Given the description of an element on the screen output the (x, y) to click on. 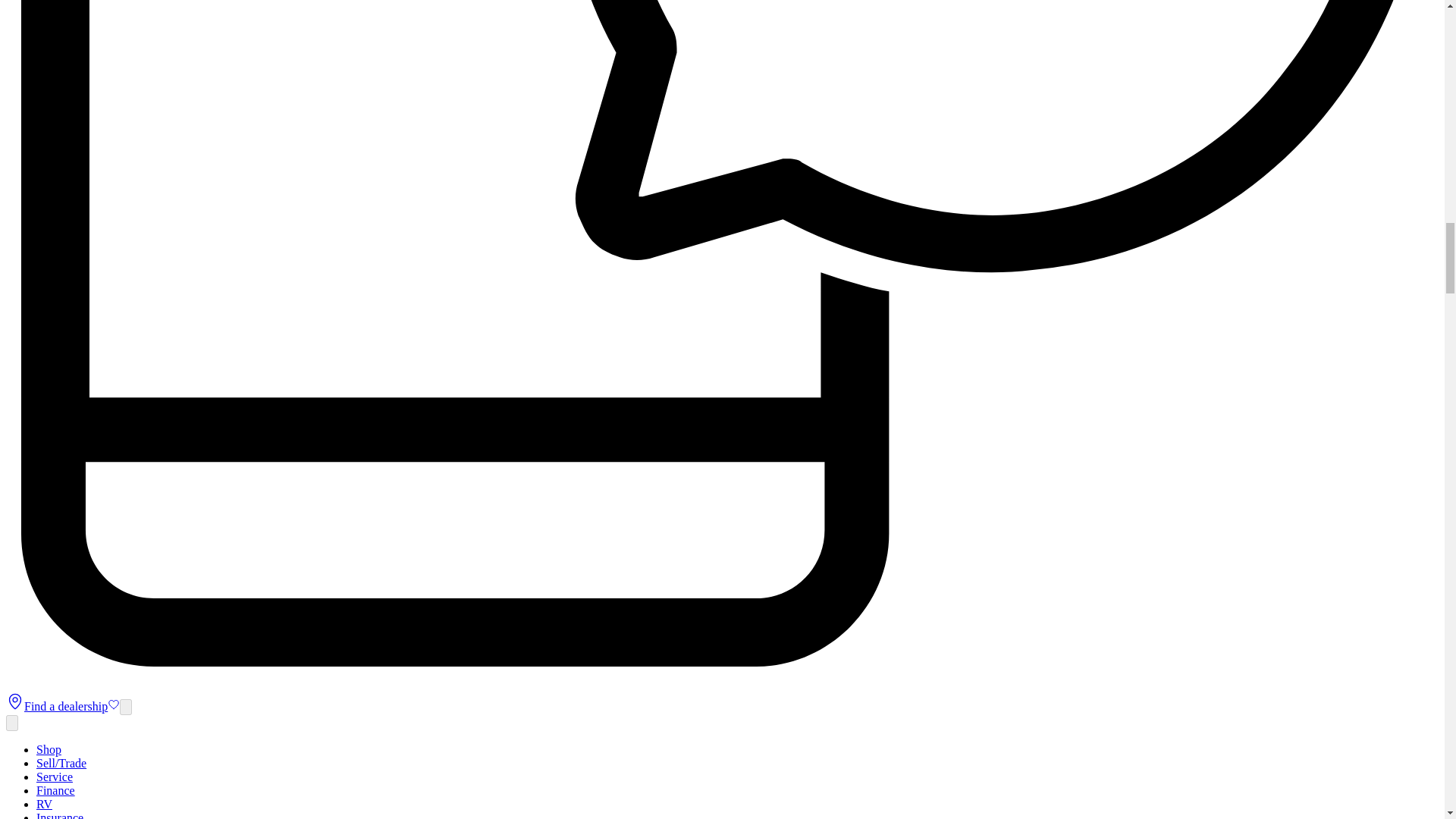
Service (54, 776)
RV (44, 803)
Finance (55, 789)
Shop (48, 748)
Insurance (59, 815)
Find a dealership (56, 706)
